Given the description of an element on the screen output the (x, y) to click on. 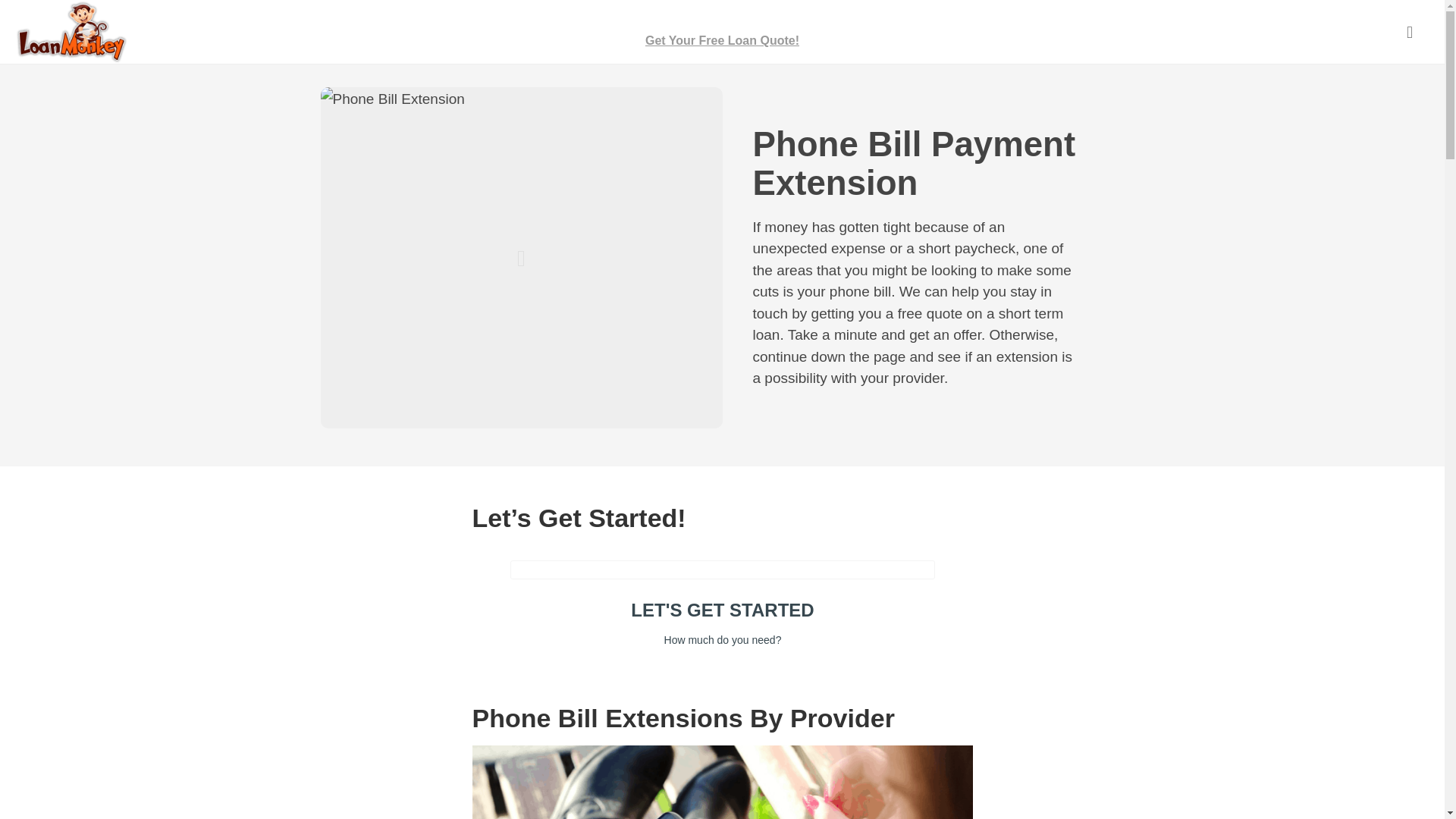
Get Your Free Loan Quote! (722, 31)
